Given the description of an element on the screen output the (x, y) to click on. 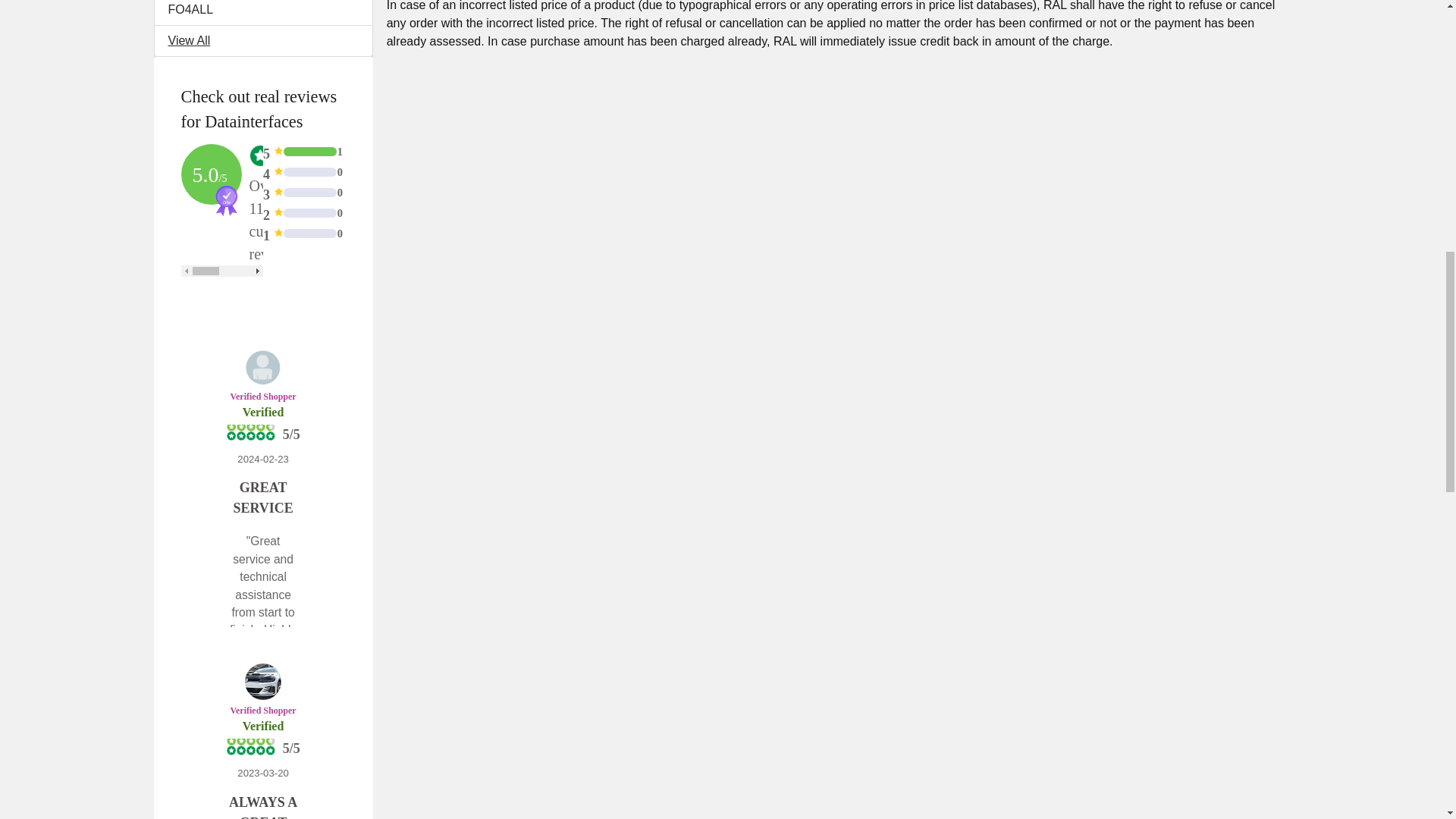
FO4ALL (263, 9)
